Given the description of an element on the screen output the (x, y) to click on. 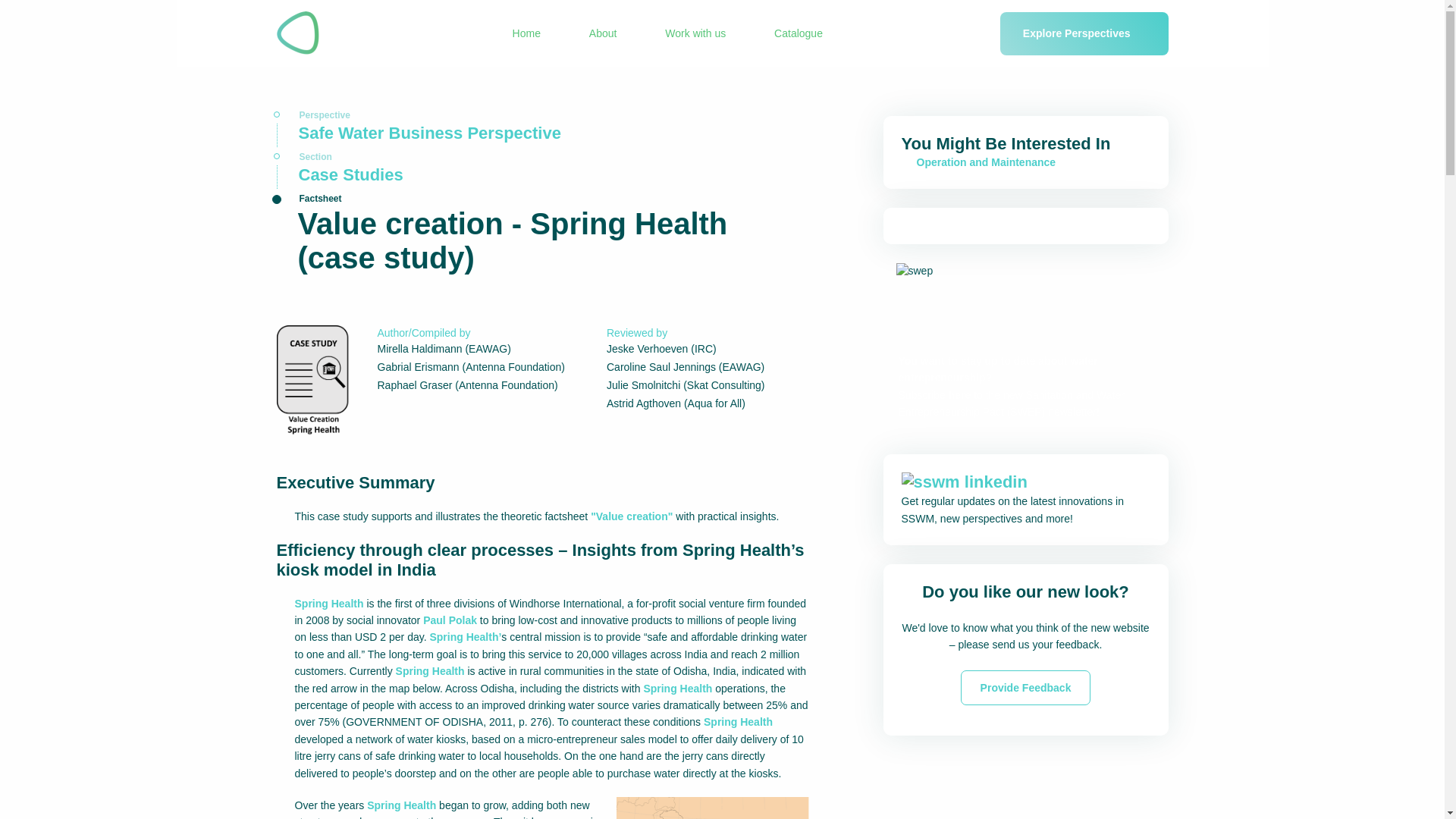
About (603, 32)
Case Studies (542, 177)
Spring Health (430, 671)
"Value creation" (631, 516)
Work with us (695, 32)
Catalogue (798, 32)
Spring Health (328, 603)
Safe Water Business Perspective (542, 135)
Explore Perspectives (1084, 33)
